Given the description of an element on the screen output the (x, y) to click on. 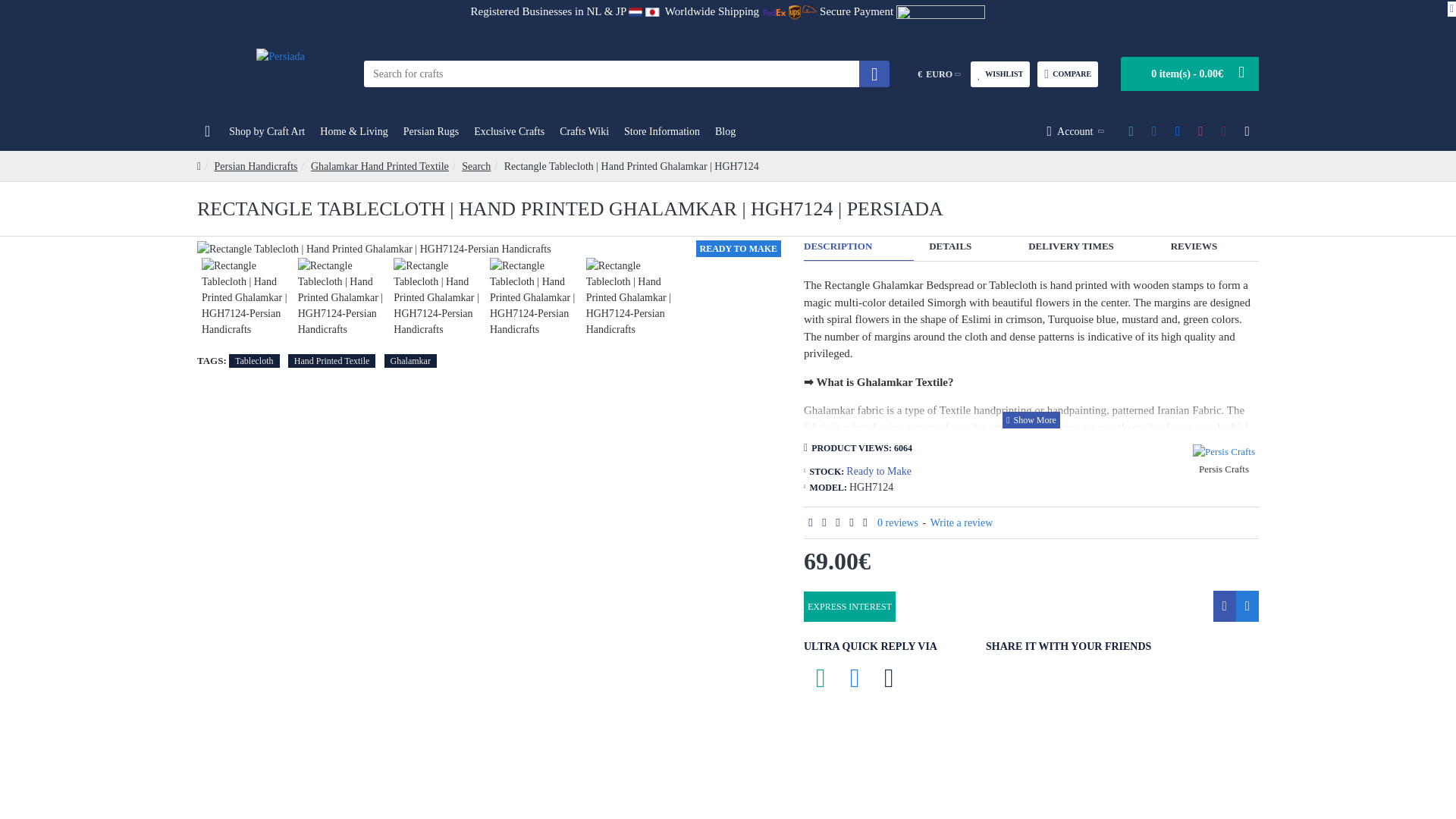
Persiada (280, 73)
WISHLIST (1000, 73)
Shop by Craft Art (267, 131)
Messenger (855, 677)
Email (888, 677)
COMPARE (1066, 73)
Whatsapp (820, 677)
